Given the description of an element on the screen output the (x, y) to click on. 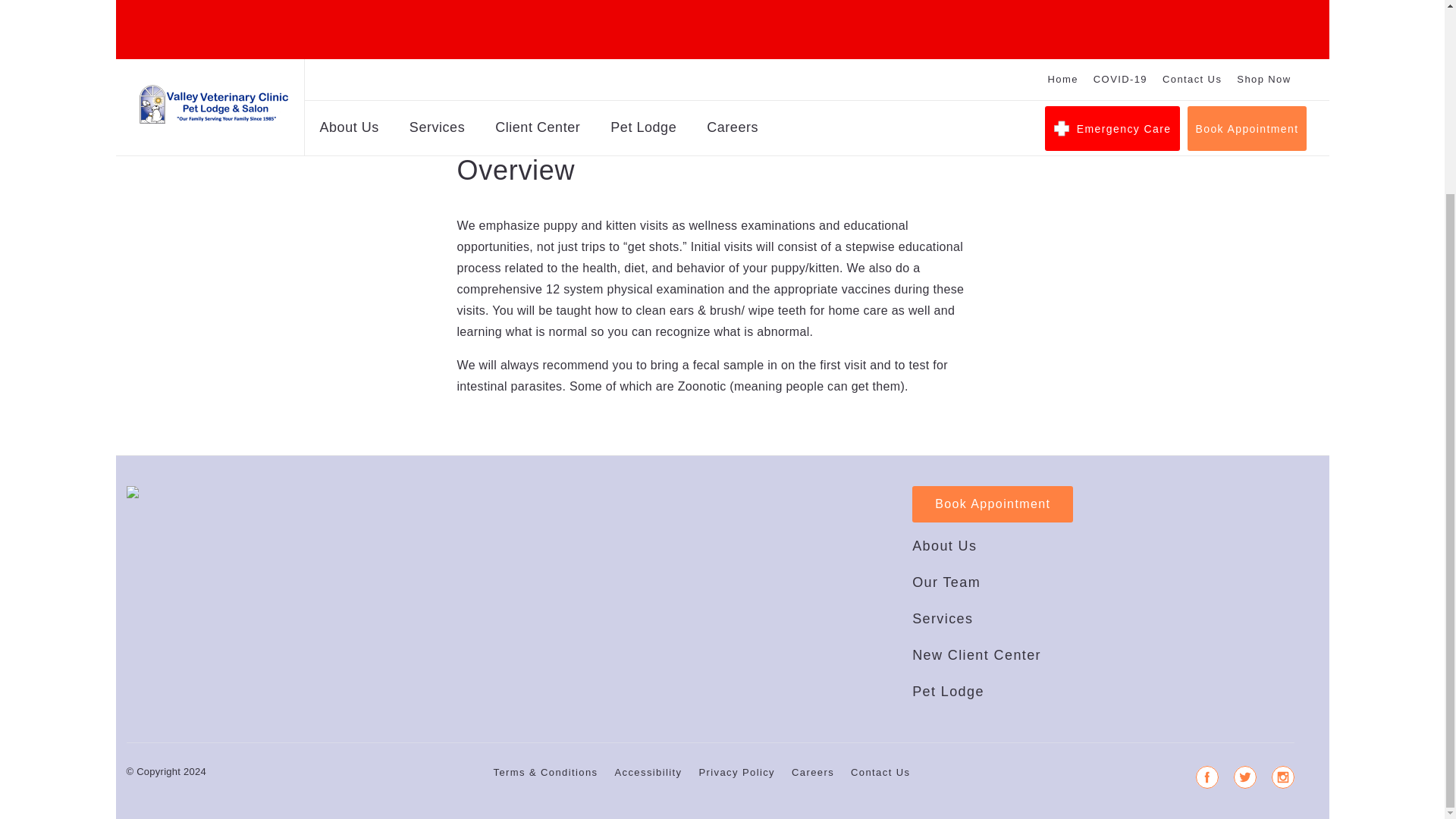
Book Appointment (992, 533)
Careers (813, 802)
Privacy Policy (737, 802)
About Us (944, 575)
Our Team (945, 612)
Accessibility (647, 802)
Pet Lodge (948, 721)
Services (942, 648)
New Client Center (976, 684)
